Given the description of an element on the screen output the (x, y) to click on. 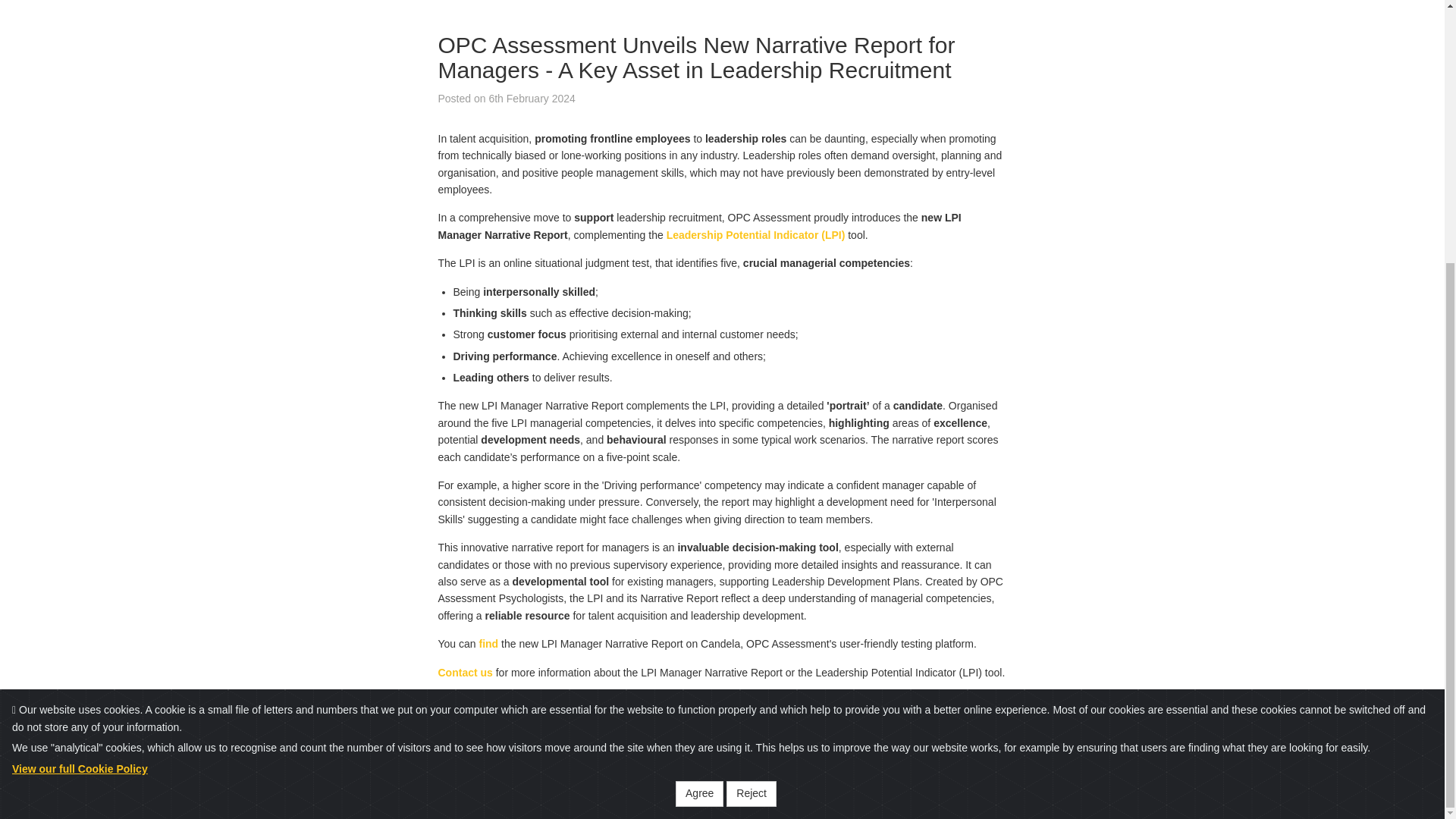
Reject (751, 415)
Contact us (465, 672)
previous (463, 1)
Agree (699, 415)
View our full Cookie Policy (79, 390)
LEGAL INFO (1085, 747)
find (488, 644)
next (551, 1)
index (513, 1)
contact us (465, 672)
